Given the description of an element on the screen output the (x, y) to click on. 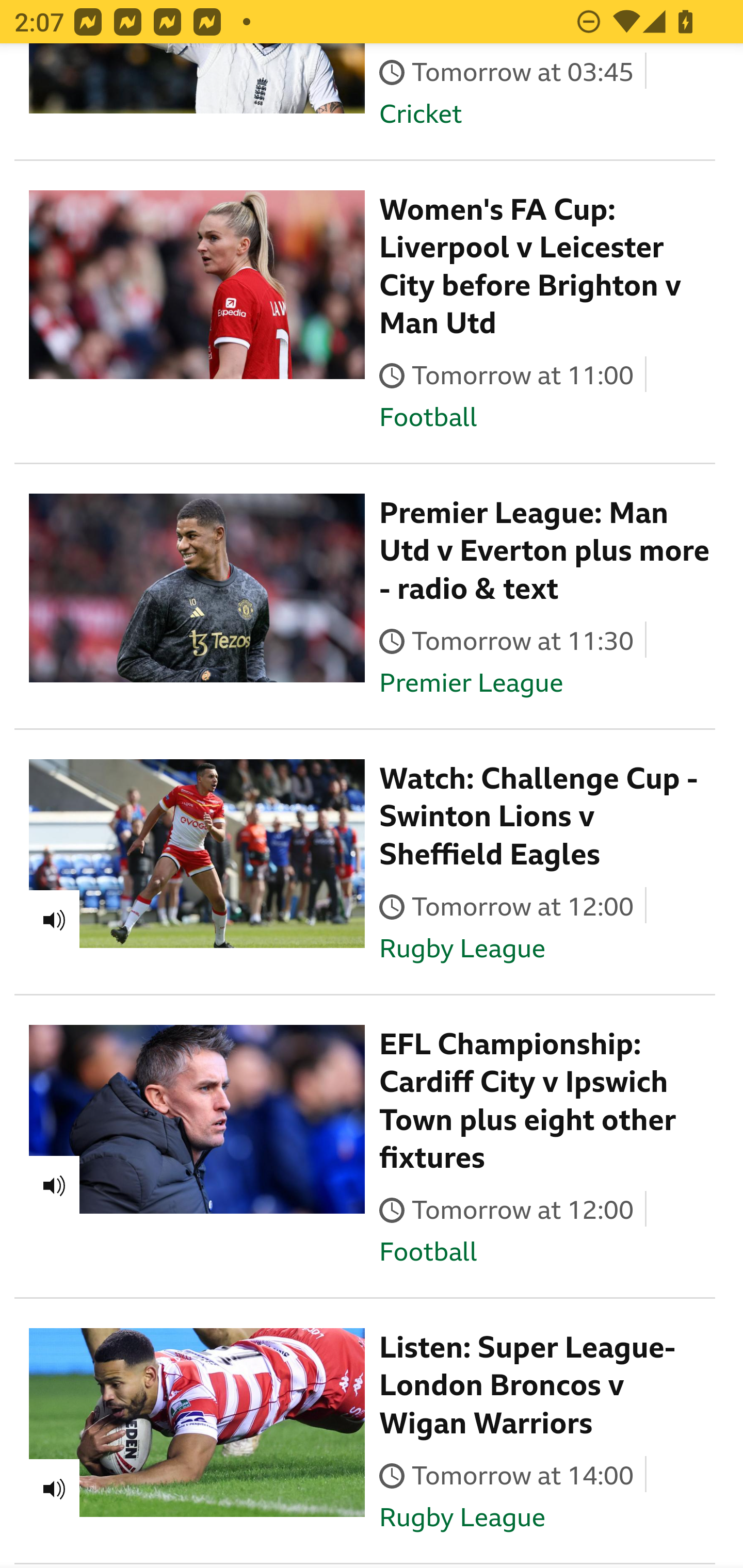
Cricket (420, 114)
Football (428, 418)
Premier League (470, 684)
Rugby League (462, 950)
Football (428, 1254)
Rugby League (462, 1519)
